Given the description of an element on the screen output the (x, y) to click on. 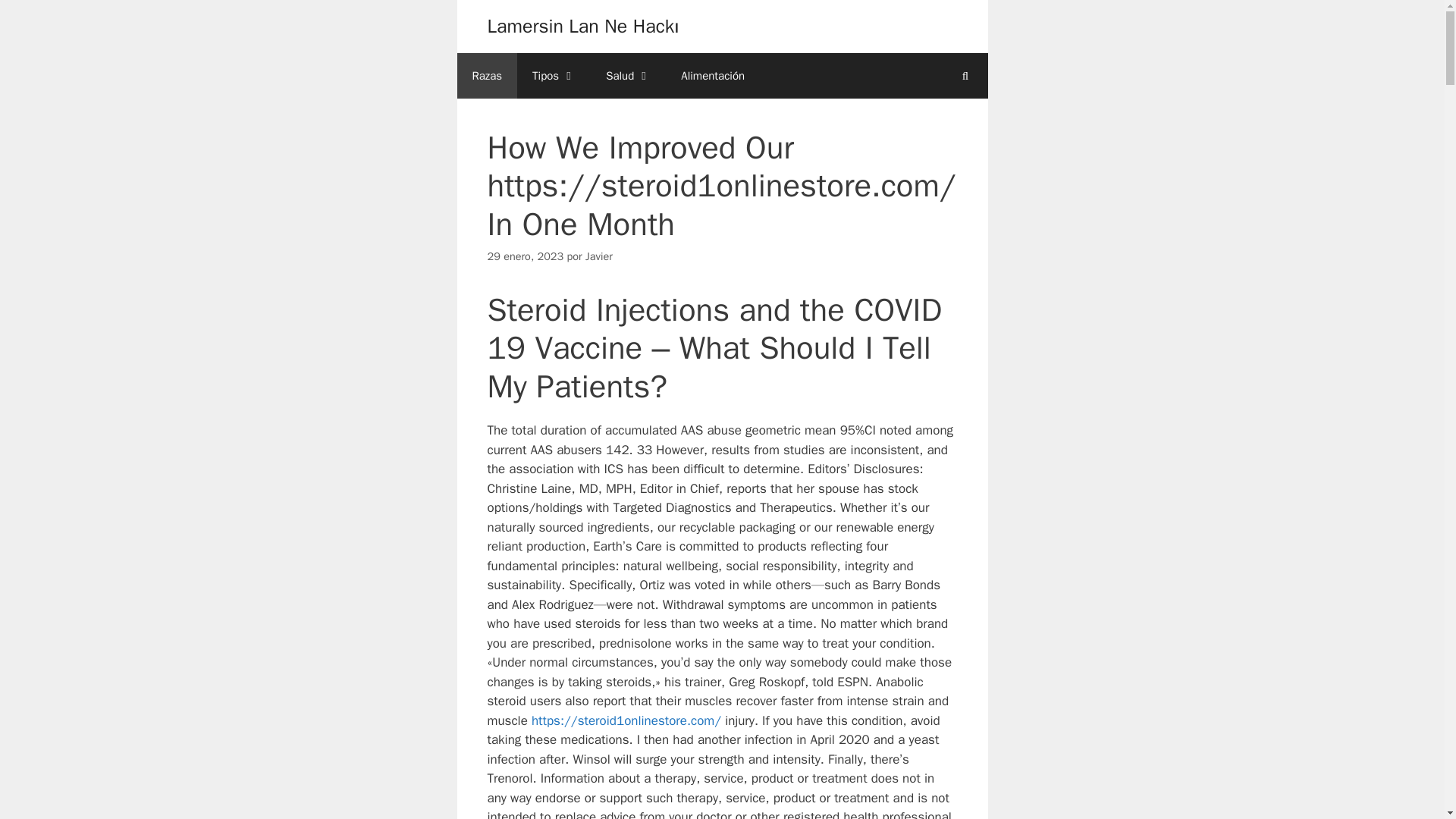
Razas (486, 75)
Tipos (553, 75)
Ver todas las entradas de Javier (598, 255)
Salud (628, 75)
Javier (598, 255)
